Given the description of an element on the screen output the (x, y) to click on. 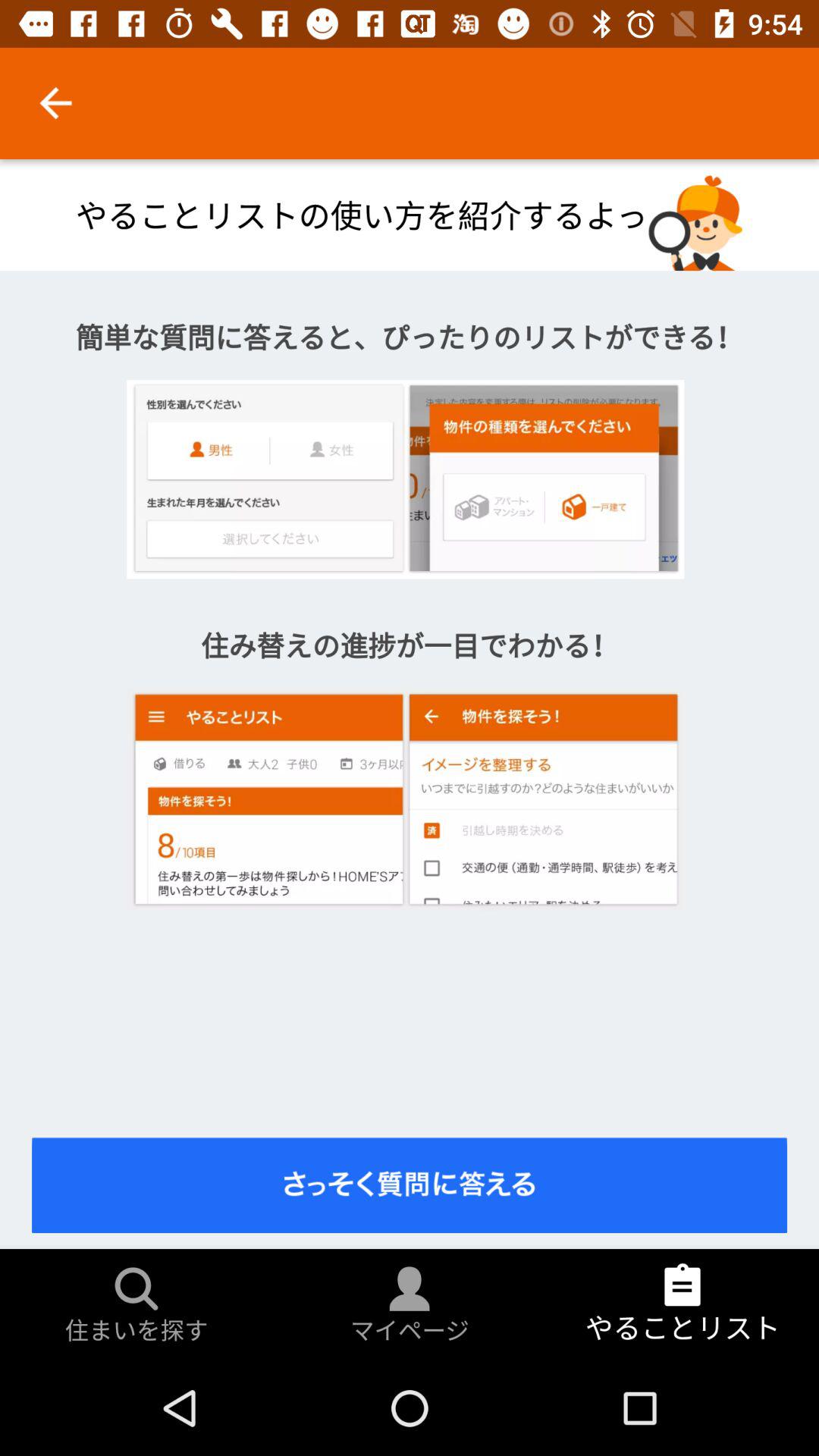
choose the icon at the top left corner (55, 103)
